Given the description of an element on the screen output the (x, y) to click on. 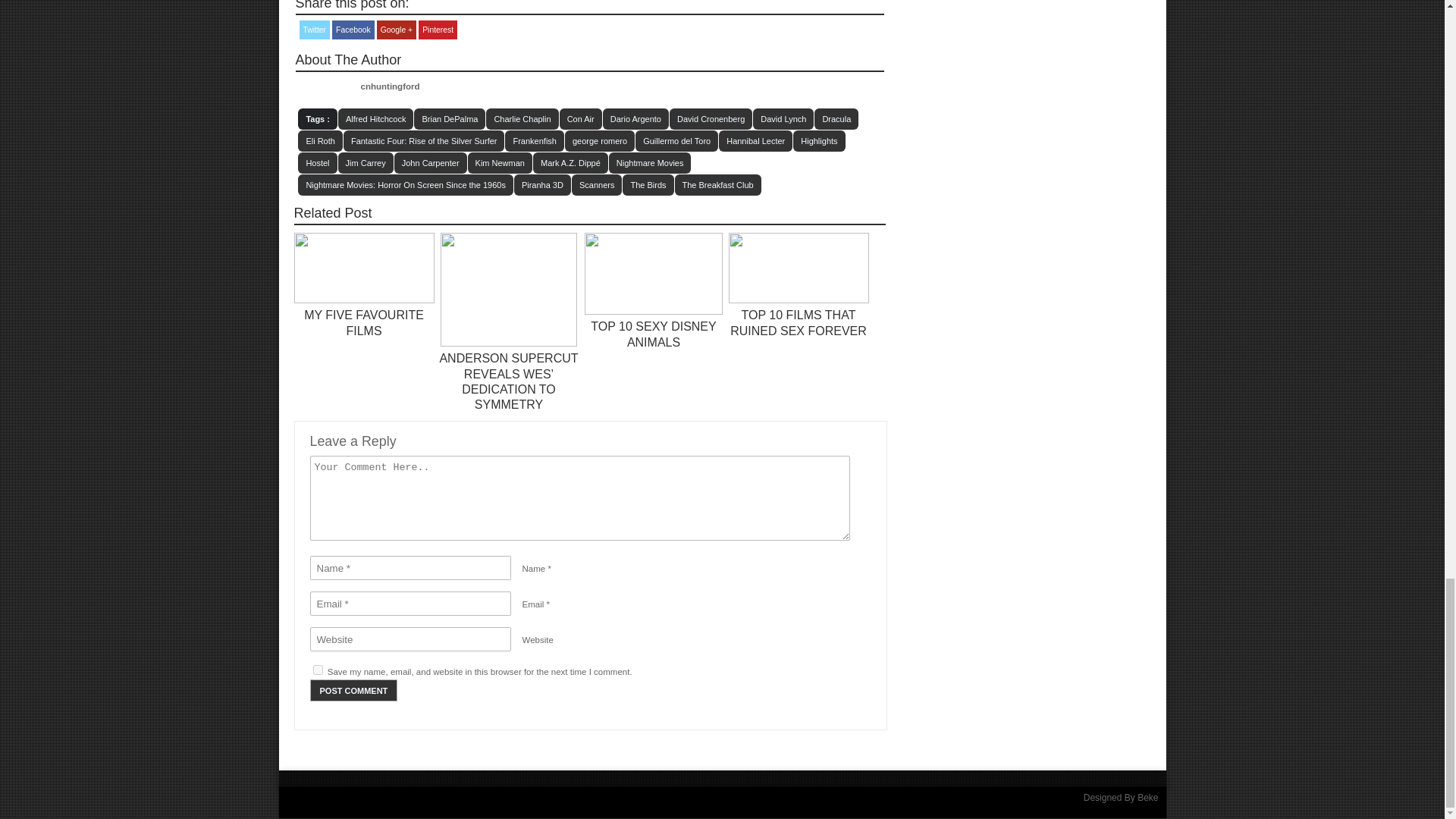
Charlie Chaplin (521, 118)
Posts by cnhuntingford (390, 85)
Share on Facebook! (352, 29)
yes (317, 669)
Alfred Hitchcock (375, 118)
My five favourite films (363, 299)
Brian DePalma (448, 118)
Facebook (352, 29)
Twitter (314, 29)
Dario Argento (635, 118)
Tweet this! (314, 29)
Con Air (580, 118)
David Cronenberg (710, 118)
Pinterest (438, 29)
Share on Pinterest! (438, 29)
